Given the description of an element on the screen output the (x, y) to click on. 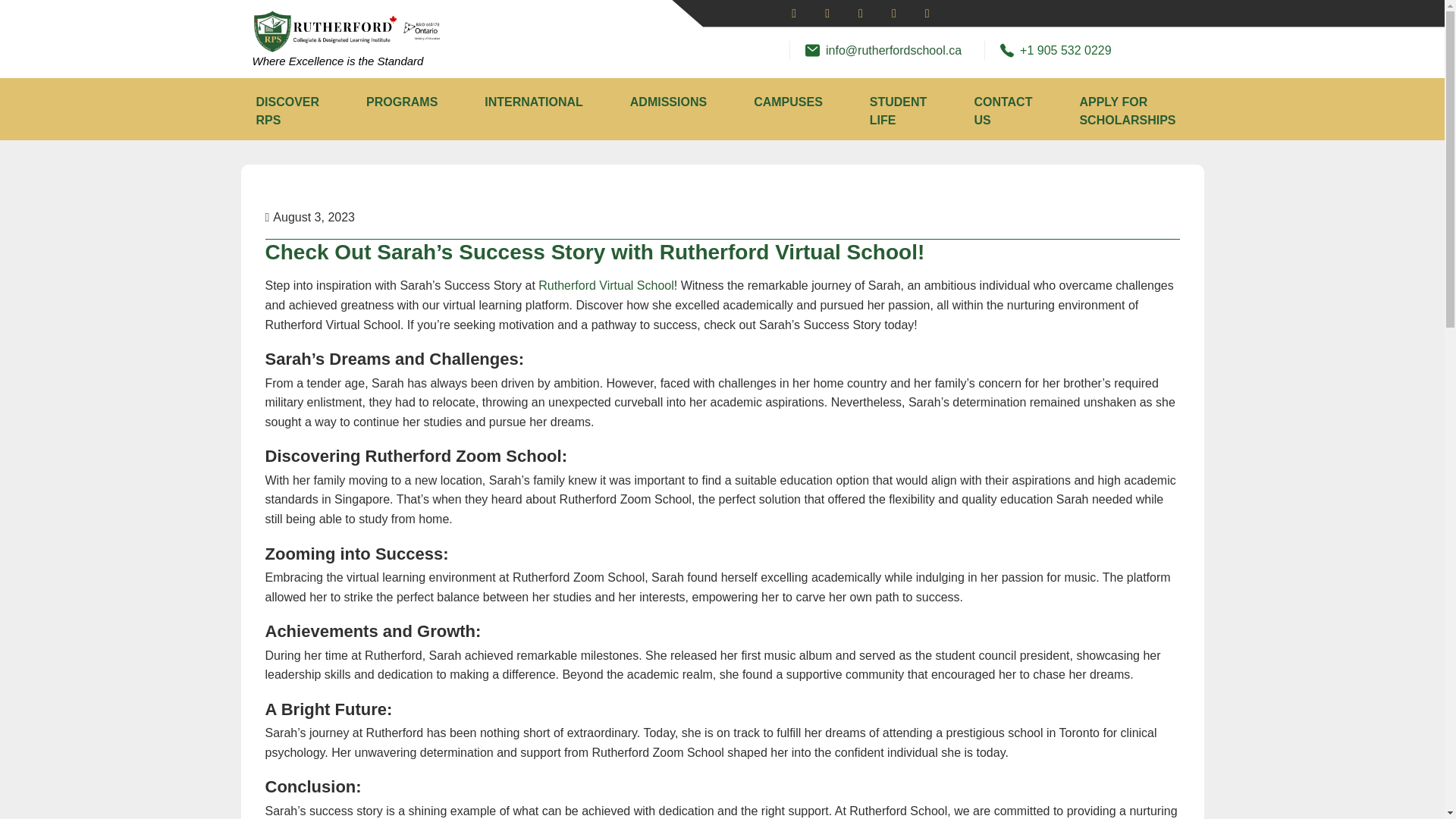
PROGRAMS (401, 101)
Where Excellence is the Standard (337, 60)
DISCOVER RPS (287, 110)
INTERNATIONAL (532, 101)
